Given the description of an element on the screen output the (x, y) to click on. 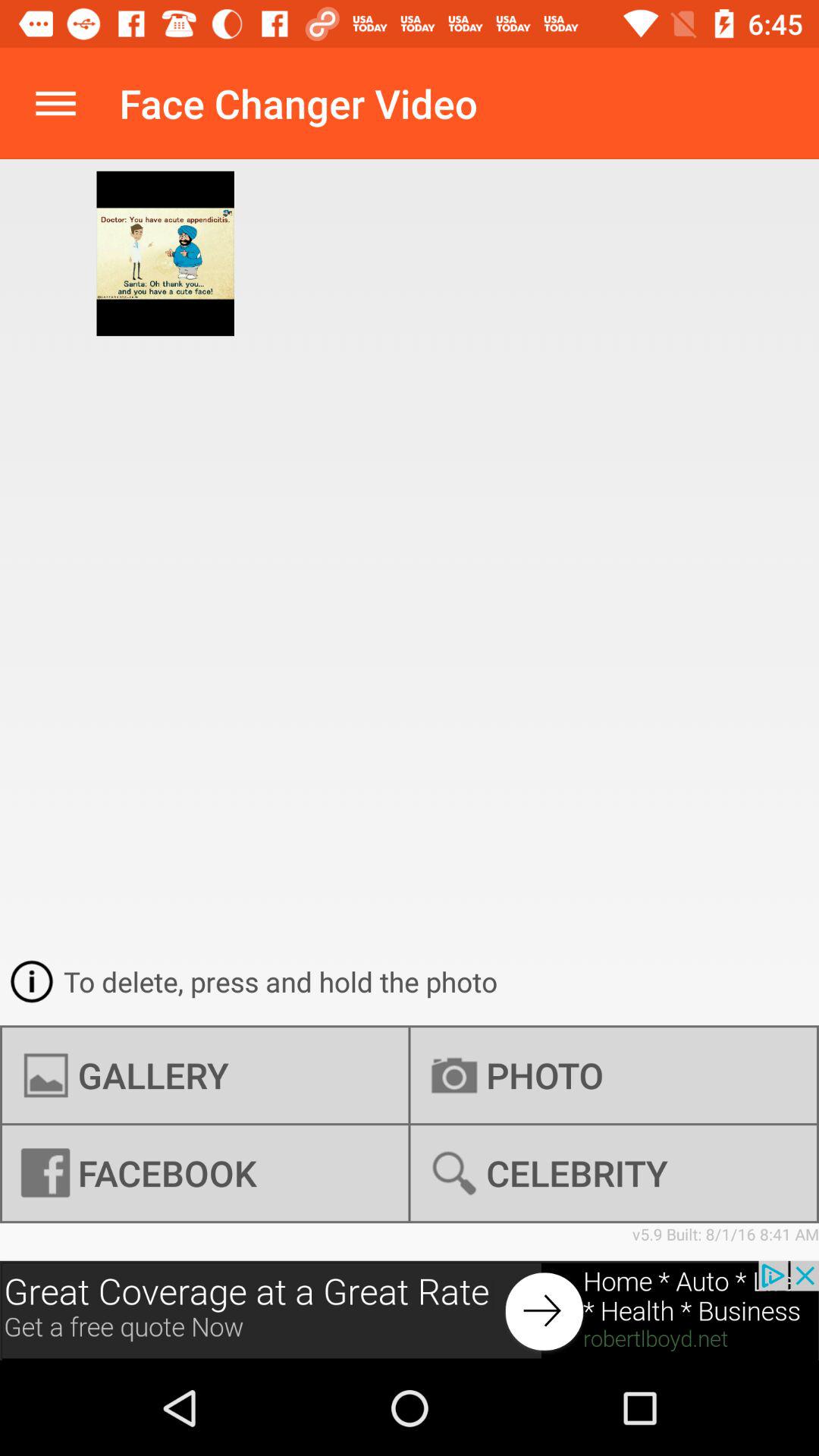
go to advertisement (409, 1310)
